Given the description of an element on the screen output the (x, y) to click on. 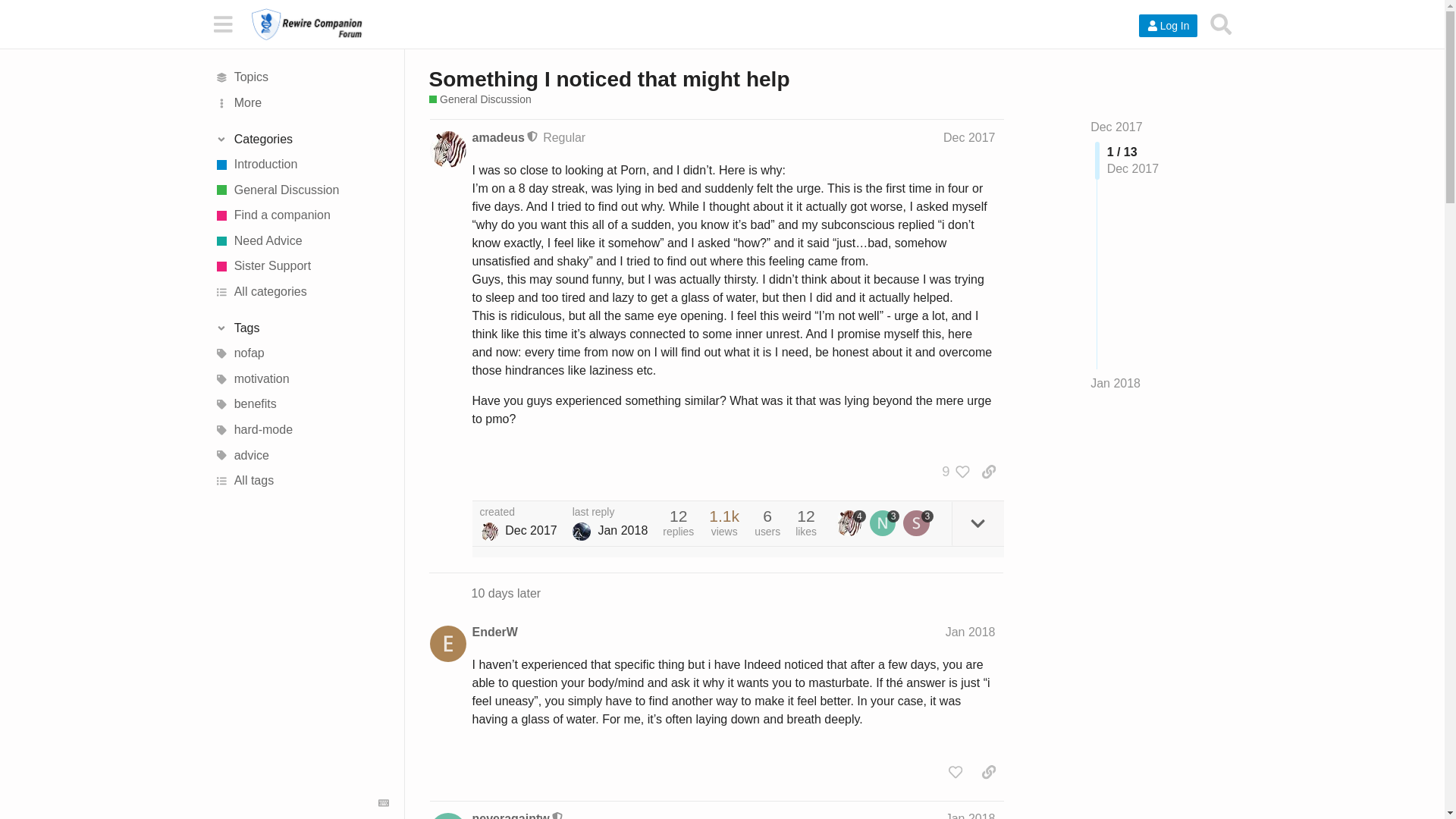
3 (884, 523)
Search (1220, 23)
Topics (301, 77)
4 (850, 523)
All categories (301, 291)
Toggle section (301, 139)
Jan 2018 (1115, 383)
Need Advice (301, 240)
Find a companion (301, 216)
Sister Support (301, 266)
amadeus (497, 137)
Introduction (301, 164)
Dec 2017 (1116, 126)
